Given the description of an element on the screen output the (x, y) to click on. 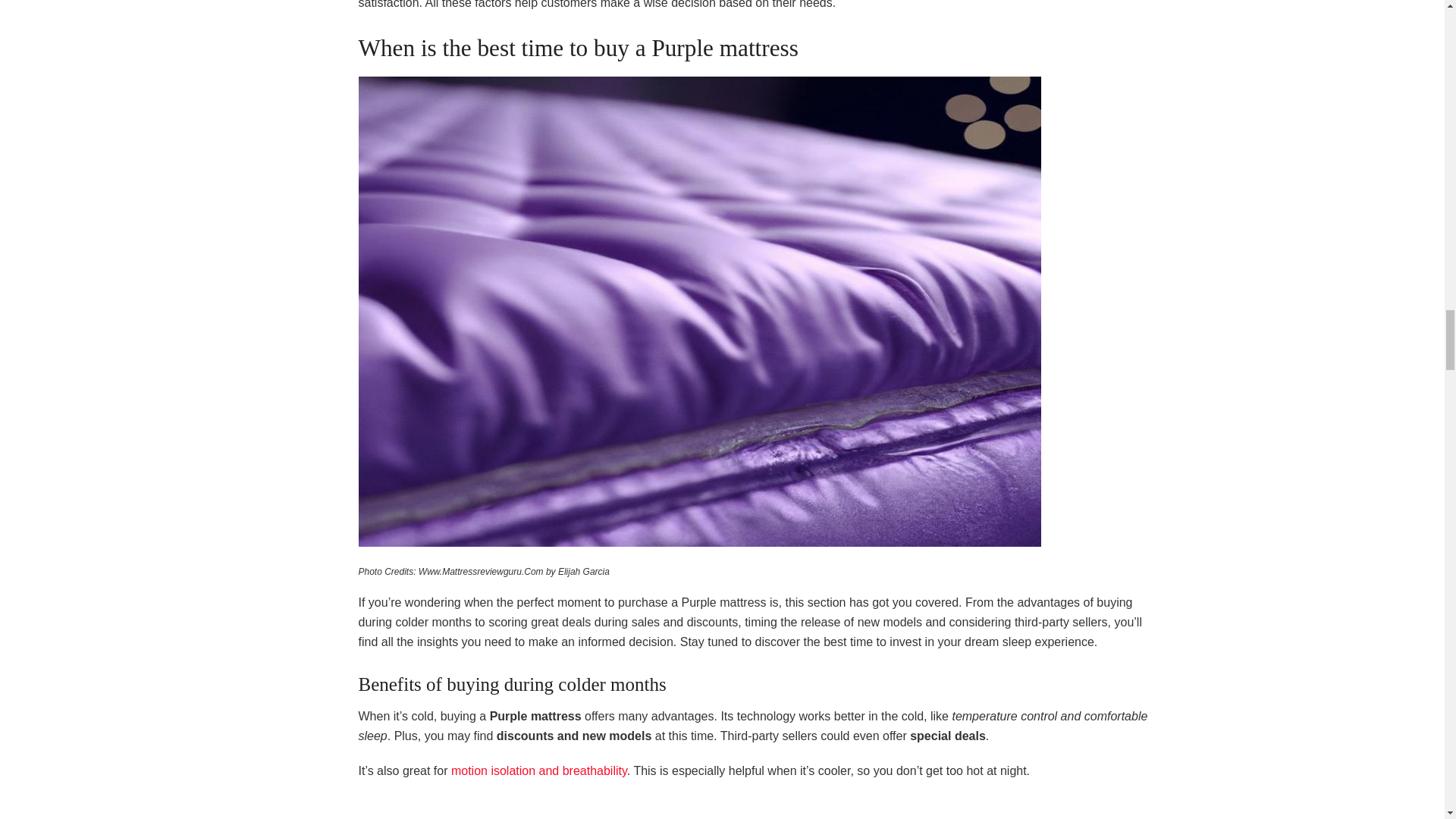
motion isolation and breathability (539, 770)
